Given the description of an element on the screen output the (x, y) to click on. 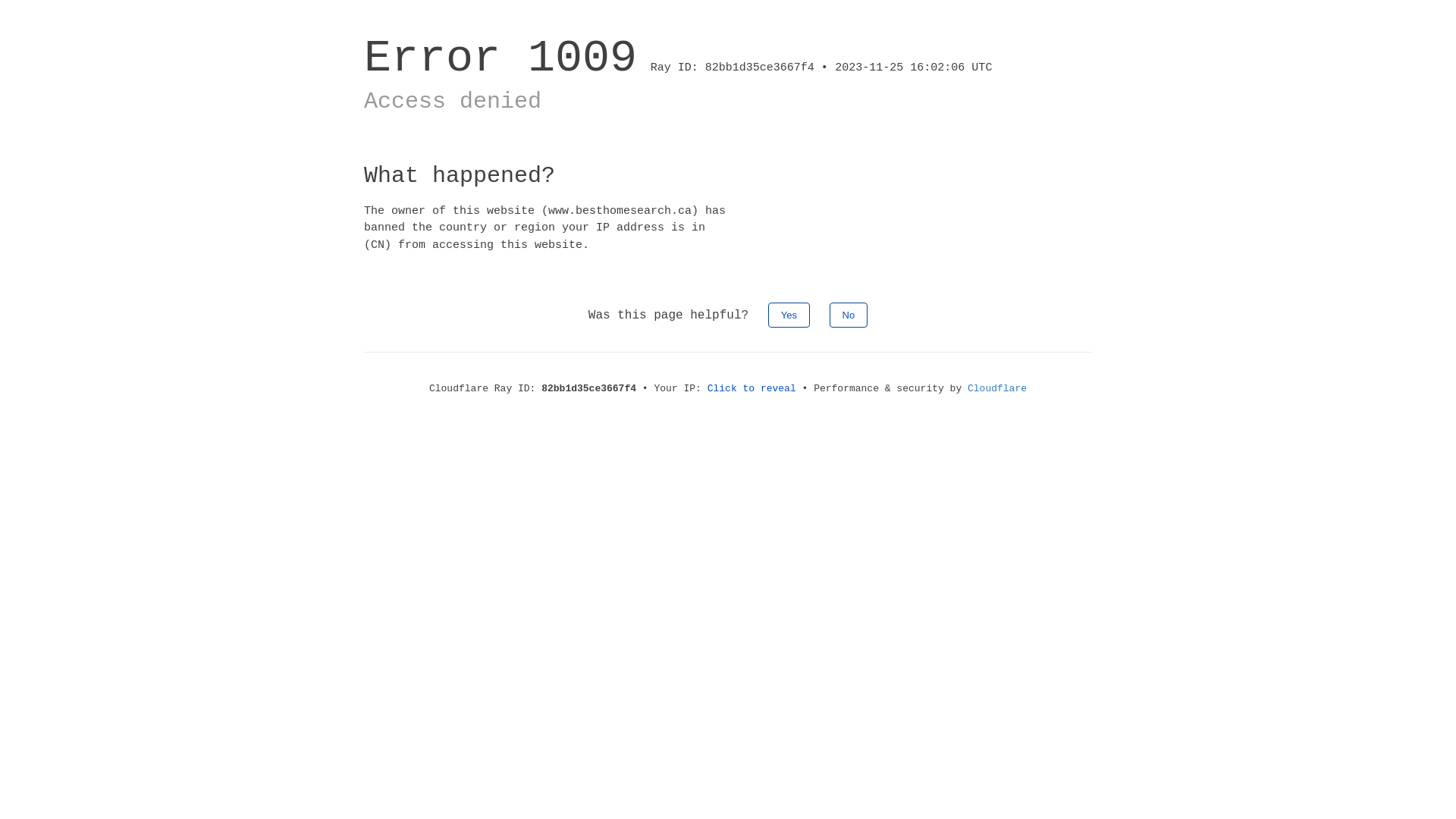
Click to reveal Element type: text (751, 388)
Cloudflare Element type: text (996, 388)
Yes Element type: text (788, 314)
No Element type: text (848, 314)
